Given the description of an element on the screen output the (x, y) to click on. 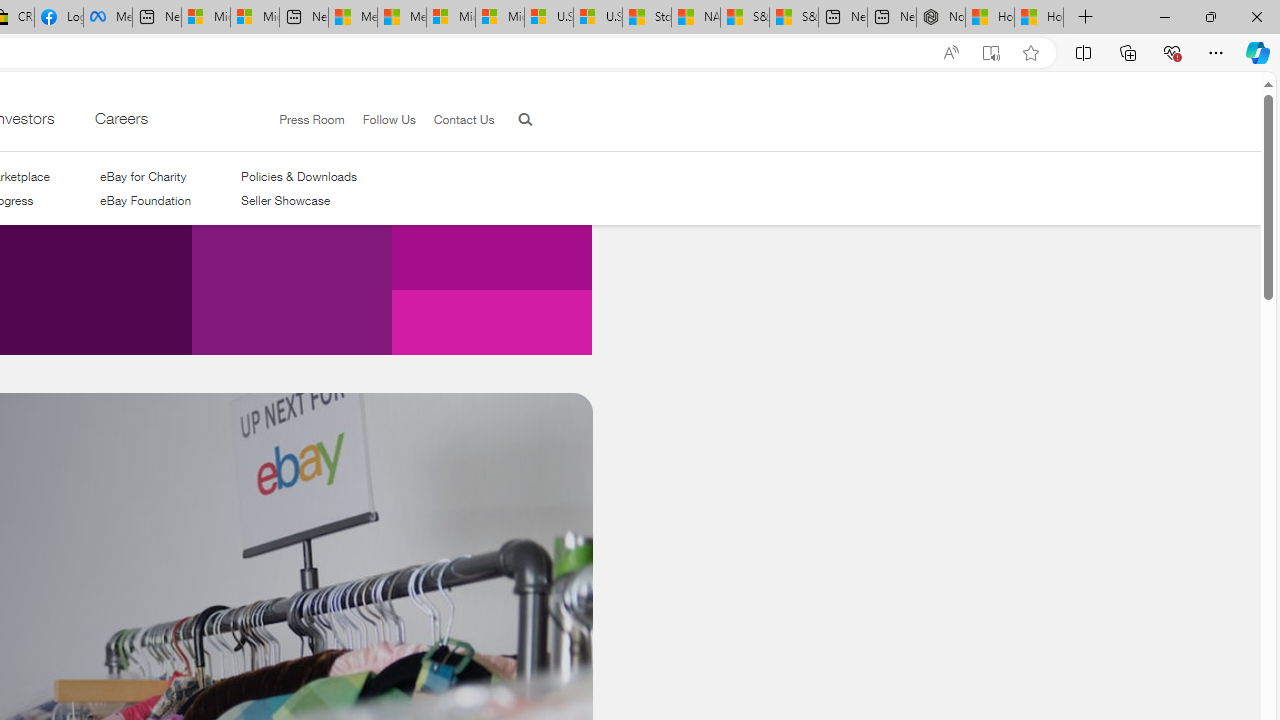
S&P 500, Nasdaq end lower, weighed by Nvidia dip | Watch (793, 17)
Careers (120, 123)
Outlook (1258, 174)
Policies & Downloads (299, 176)
Policies & Downloads (299, 176)
Meta Store (107, 17)
